Given the description of an element on the screen output the (x, y) to click on. 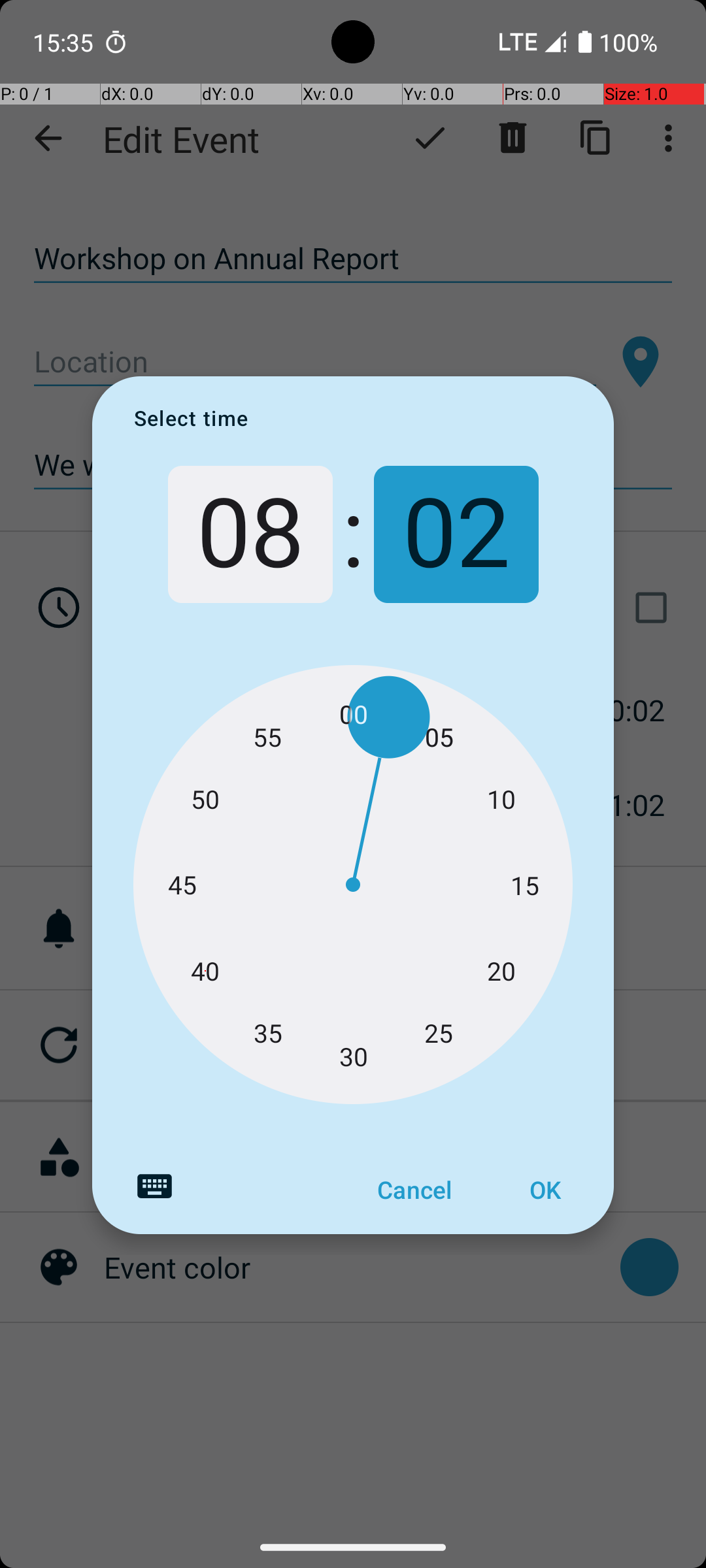
08 Element type: android.view.View (250, 534)
02 Element type: android.view.View (455, 534)
